Given the description of an element on the screen output the (x, y) to click on. 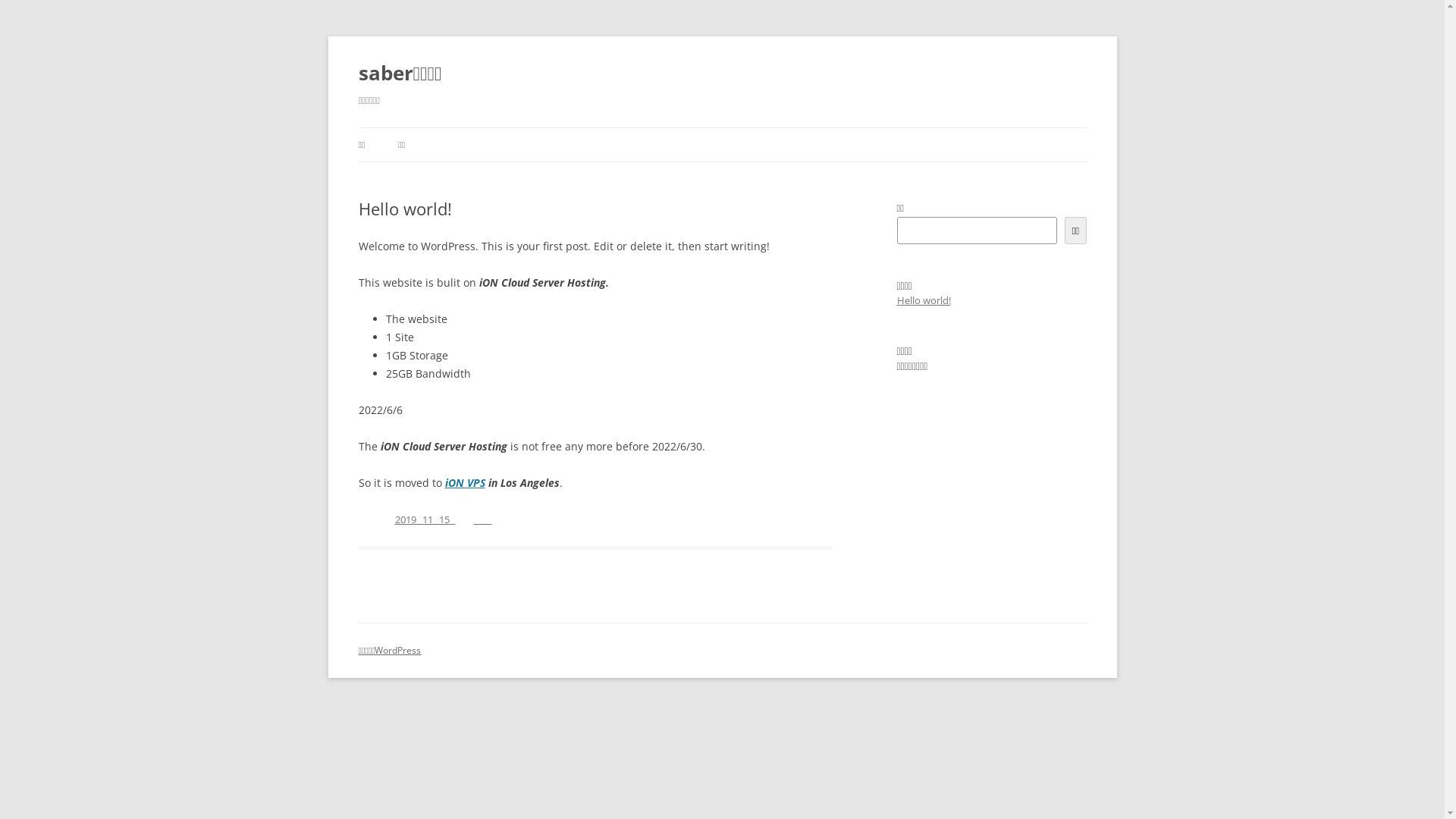
iON VPS Element type: text (464, 482)
Hello world! Element type: text (923, 300)
